Given the description of an element on the screen output the (x, y) to click on. 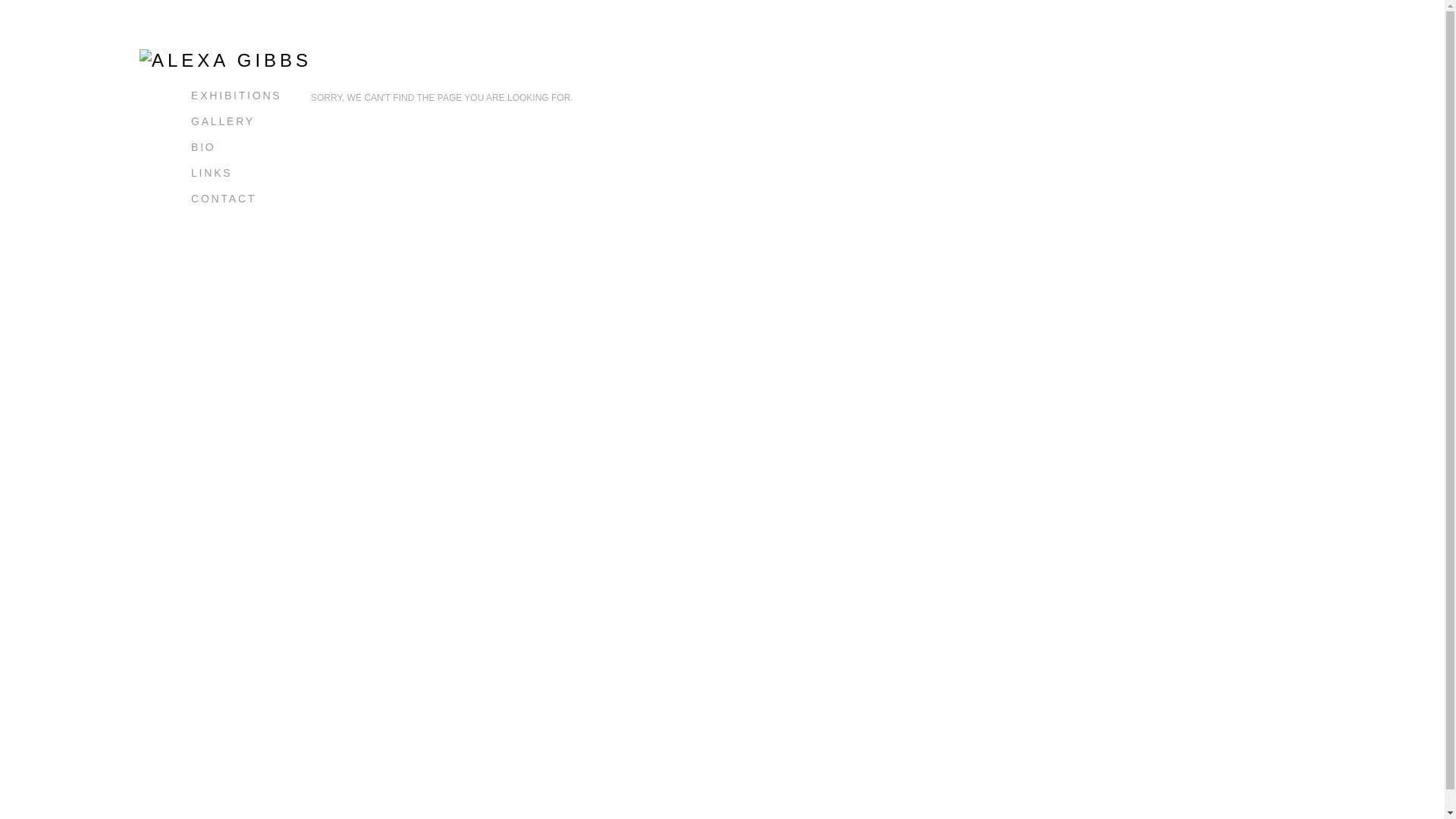
GALLERY Element type: text (222, 121)
CONTACT Element type: text (223, 198)
LOG IN Element type: text (215, 224)
LINKS Element type: text (211, 172)
BIO Element type: text (203, 147)
EXHIBITIONS Element type: text (236, 95)
